Given the description of an element on the screen output the (x, y) to click on. 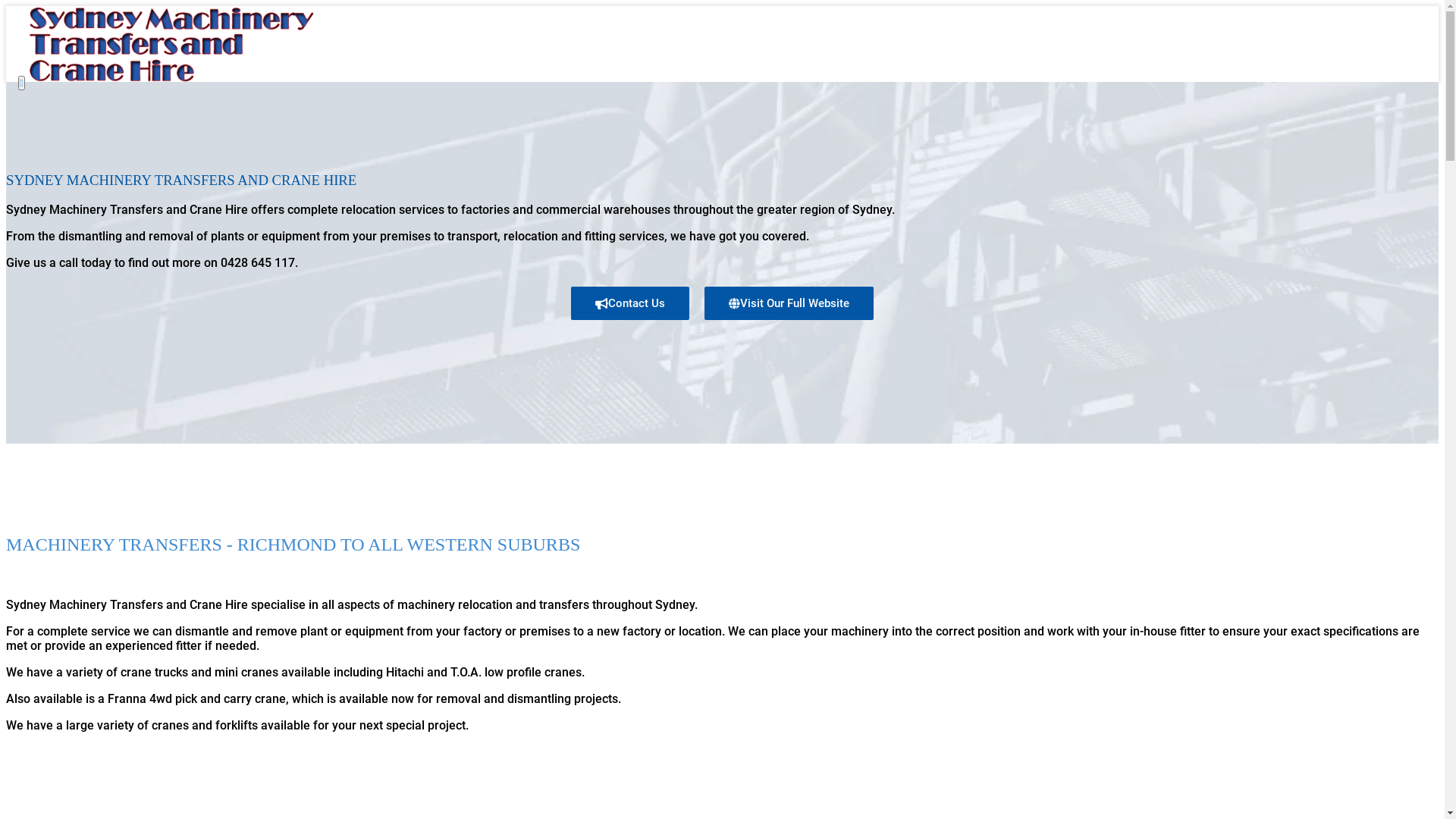
Contact Us Element type: text (630, 303)
Visit Our Full Website Element type: text (788, 303)
Contact Us Element type: text (737, 171)
Home Element type: text (737, 112)
Services Element type: text (737, 141)
